Given the description of an element on the screen output the (x, y) to click on. 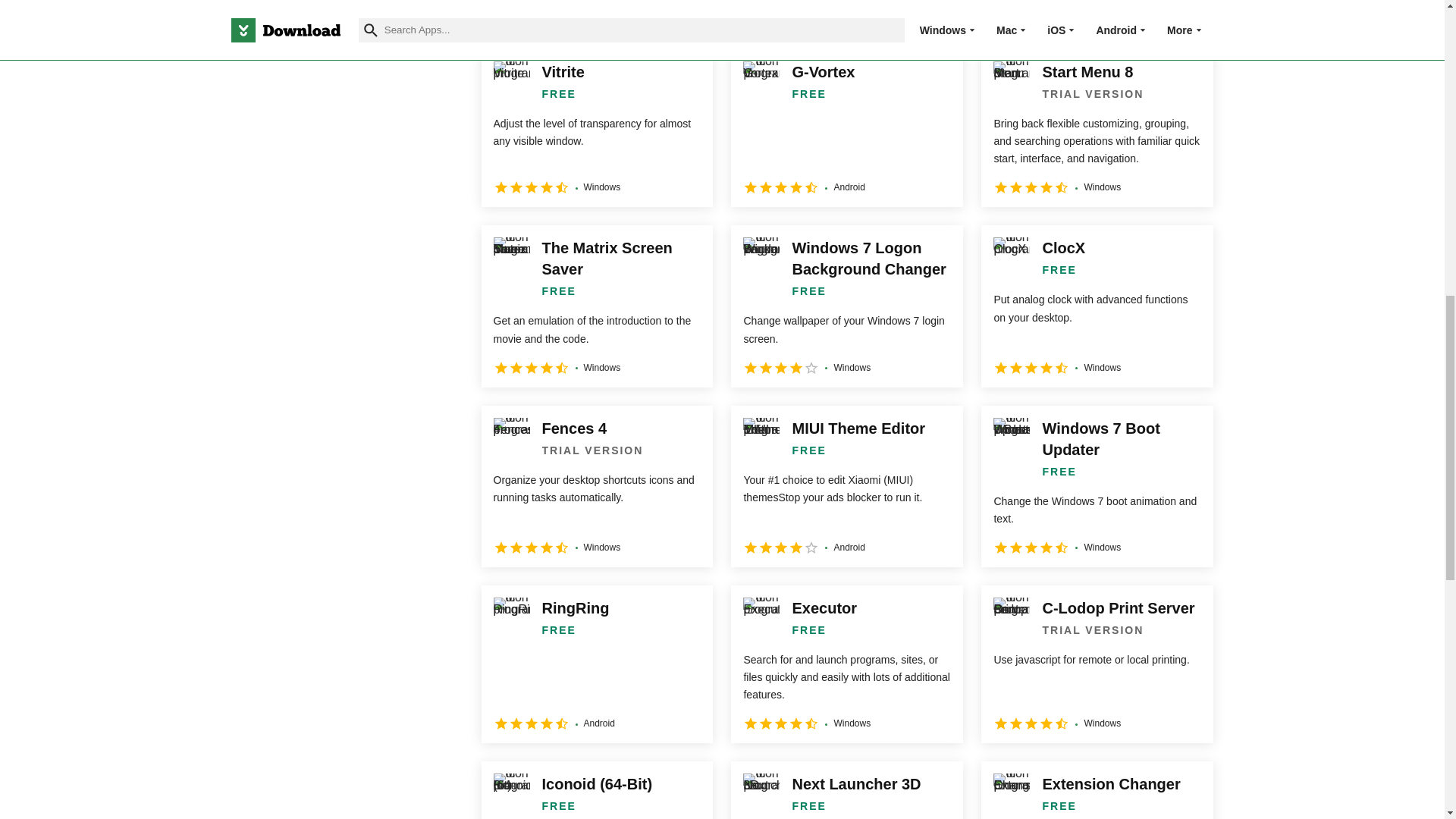
Start Menu 8 (1096, 128)
MIUI Theme Editor (846, 486)
ClocX (1096, 305)
RingRing (596, 663)
G-Vortex (846, 128)
The Matrix Screen Saver (596, 305)
Windows 7 Boot Updater (1096, 486)
Free TrueType Code 39 Barcode Font (1096, 15)
Fences 4 (596, 486)
Core Temp (596, 15)
